Given the description of an element on the screen output the (x, y) to click on. 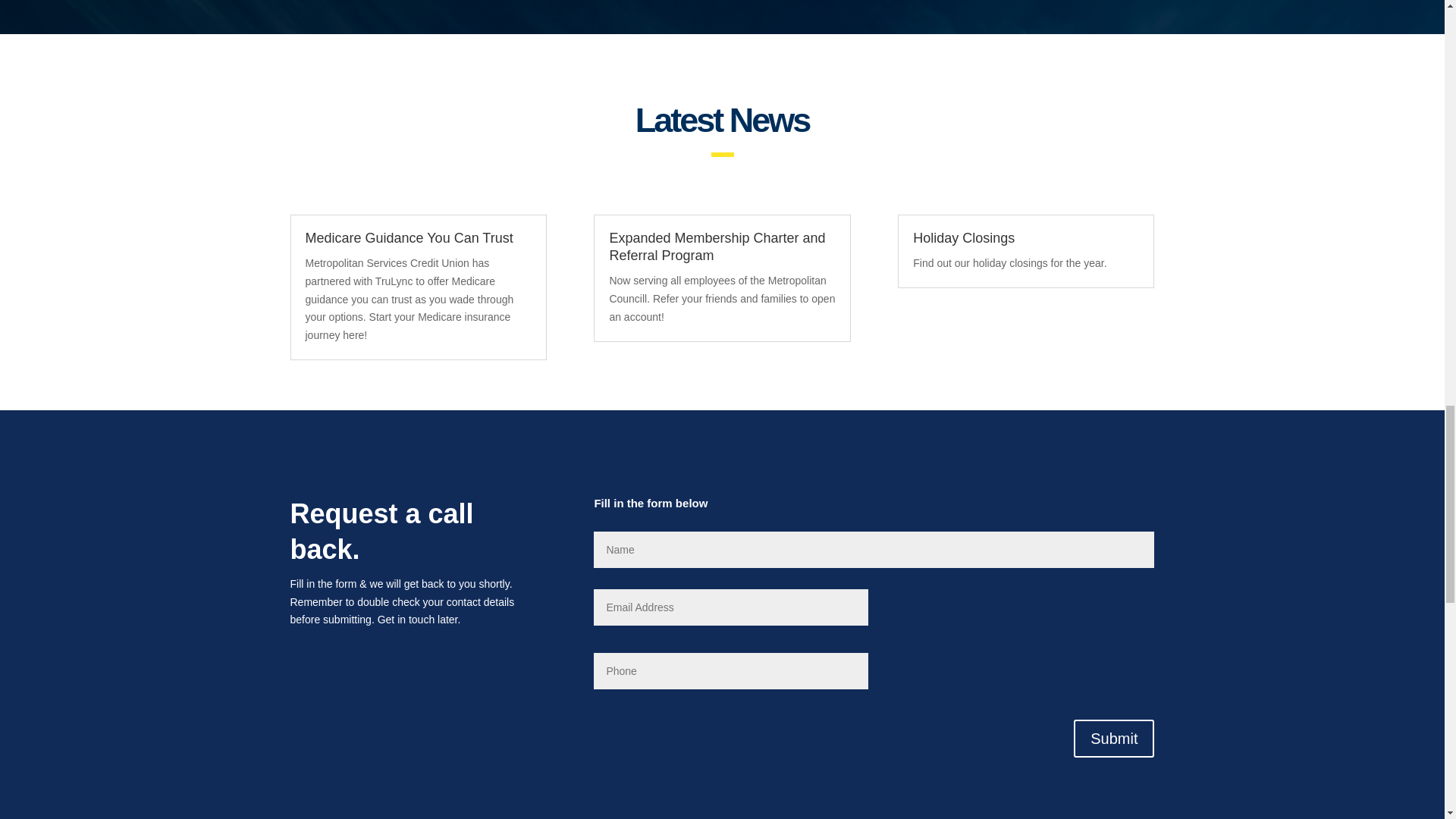
Submit (1114, 738)
